Given the description of an element on the screen output the (x, y) to click on. 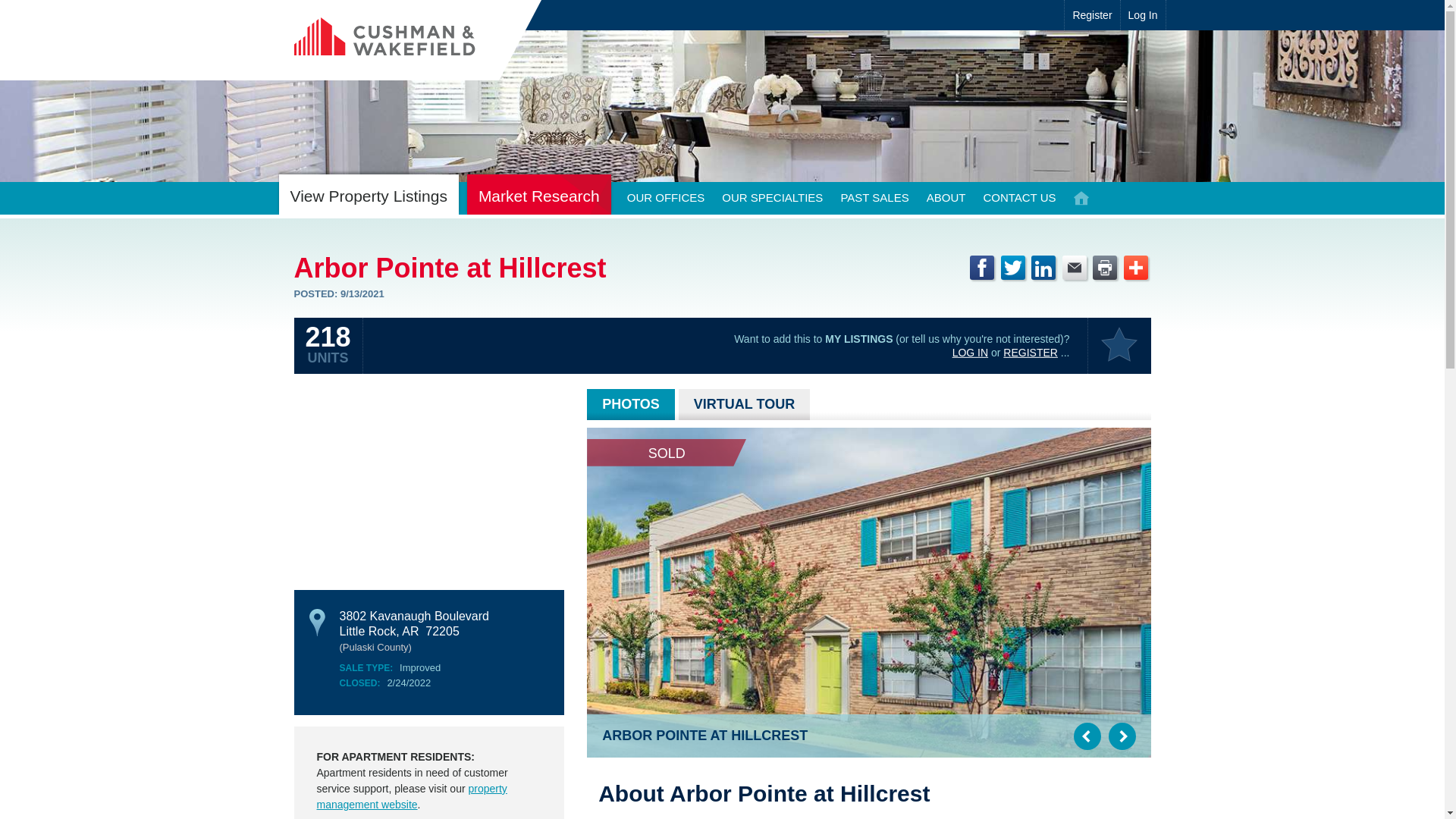
View Property Listings (368, 194)
View Property Listings (368, 194)
Register (1091, 15)
